Given the description of an element on the screen output the (x, y) to click on. 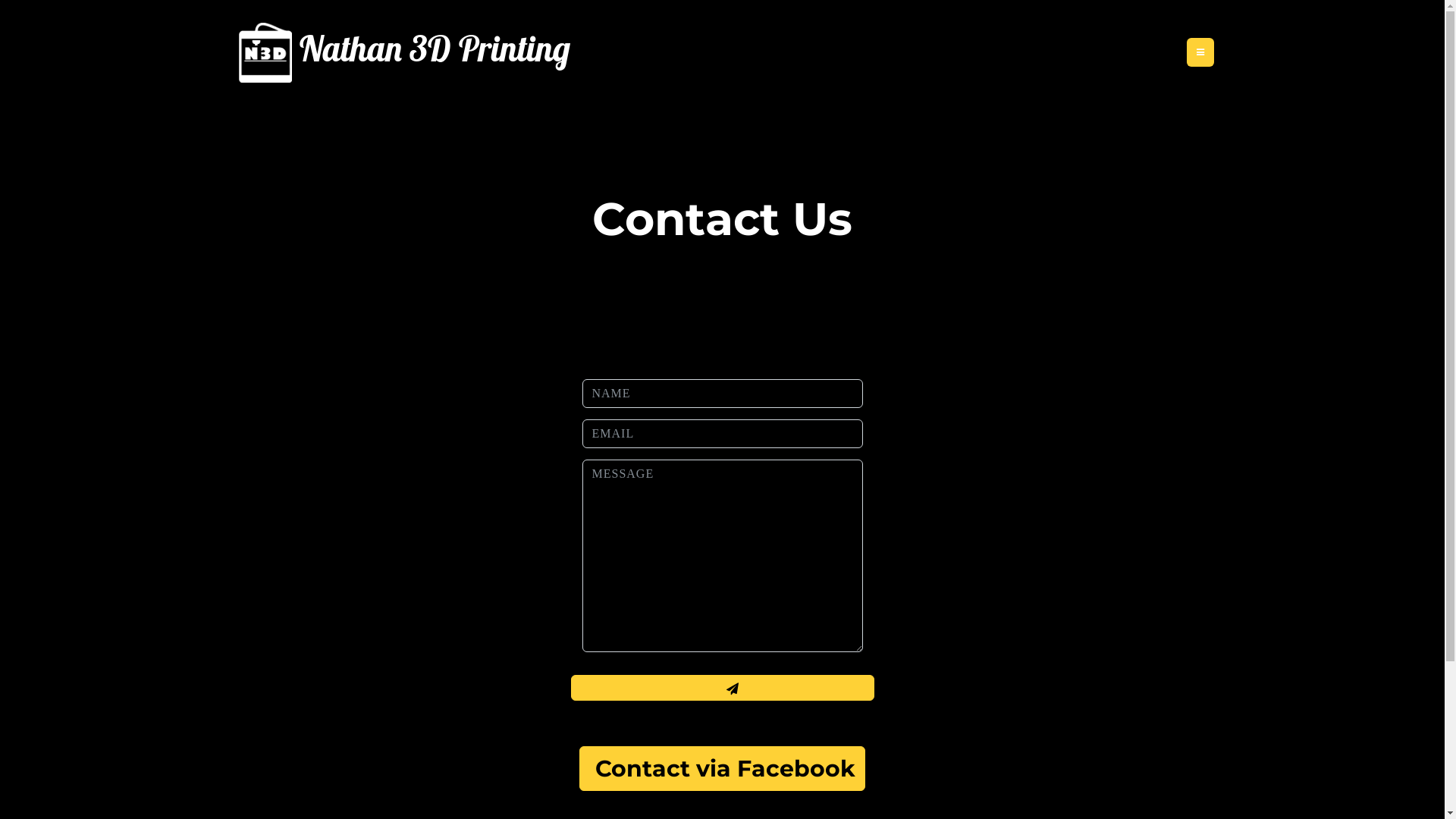
 Contact via Facebook Element type: text (722, 768)
SEND Element type: text (721, 687)
  Nathan 3D Printing Element type: text (399, 52)
